Given the description of an element on the screen output the (x, y) to click on. 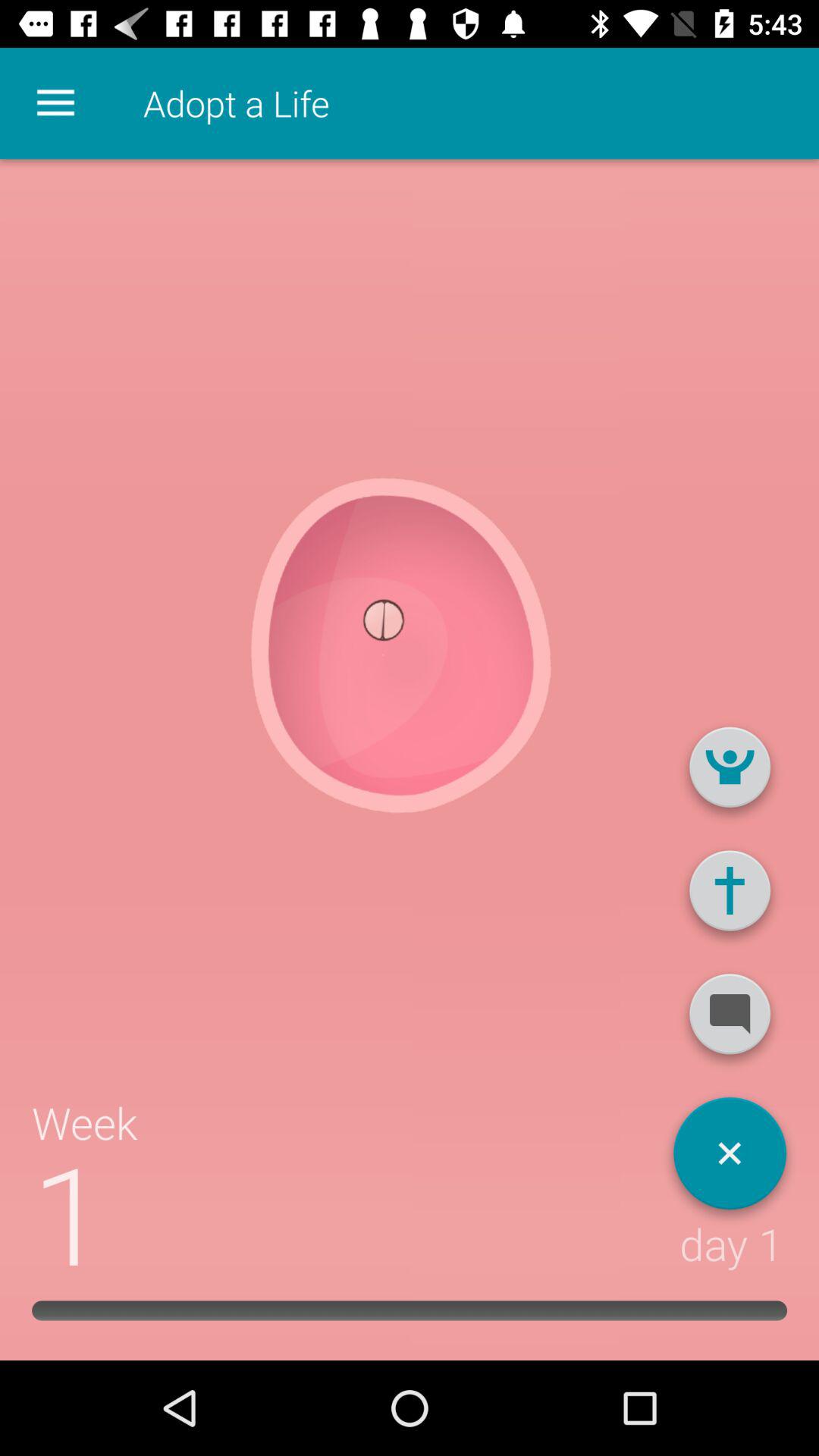
close button (729, 1159)
